Given the description of an element on the screen output the (x, y) to click on. 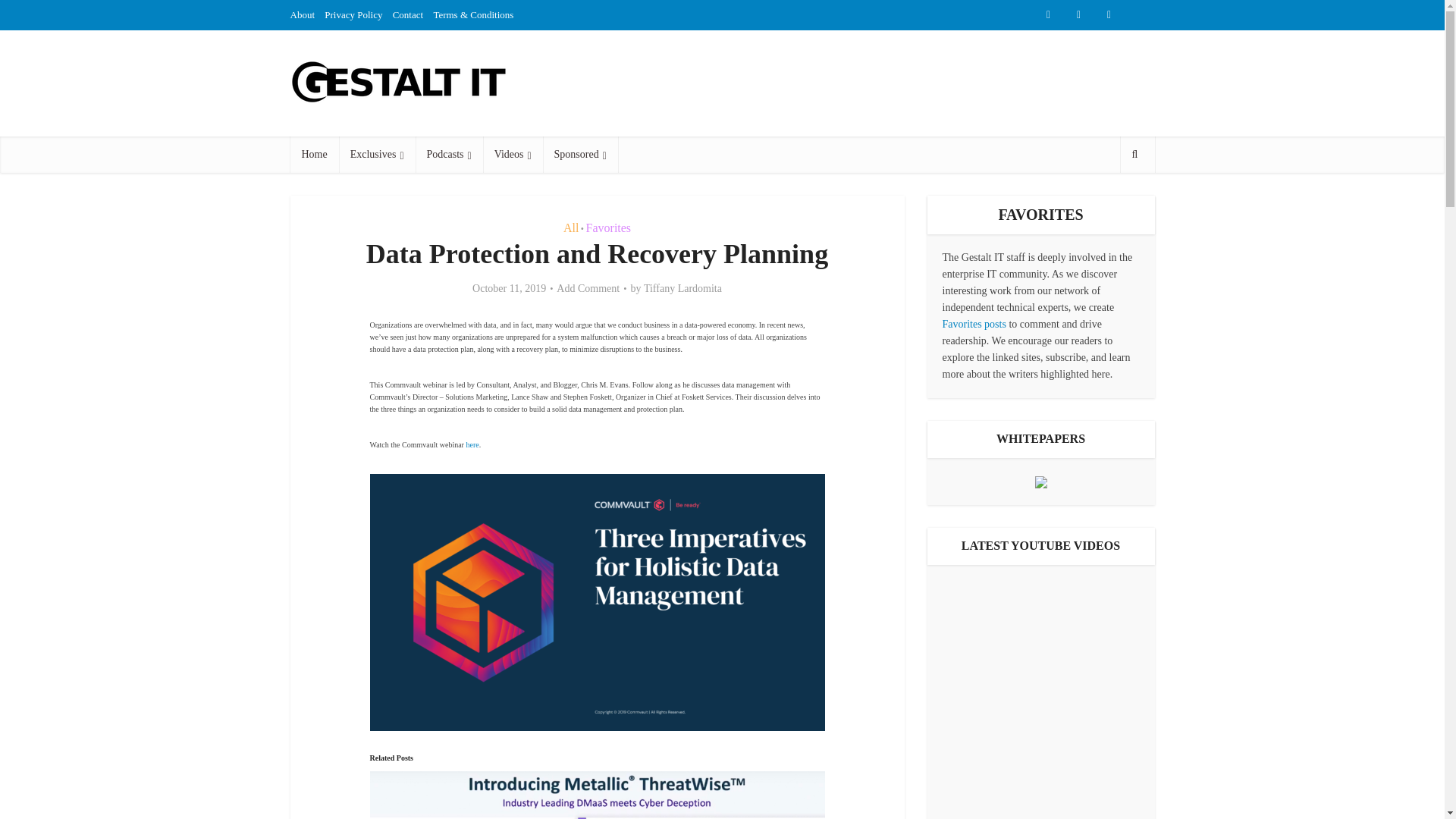
Contact (408, 14)
Sponsored (580, 154)
Home (313, 154)
Cisco to Acquire Robust Intelligence (1040, 746)
Privacy Policy (352, 14)
Veeam Overtakes Veritas in Market Share (1040, 635)
About (301, 14)
Exclusives (376, 154)
Videos (513, 154)
Podcasts (448, 154)
